Given the description of an element on the screen output the (x, y) to click on. 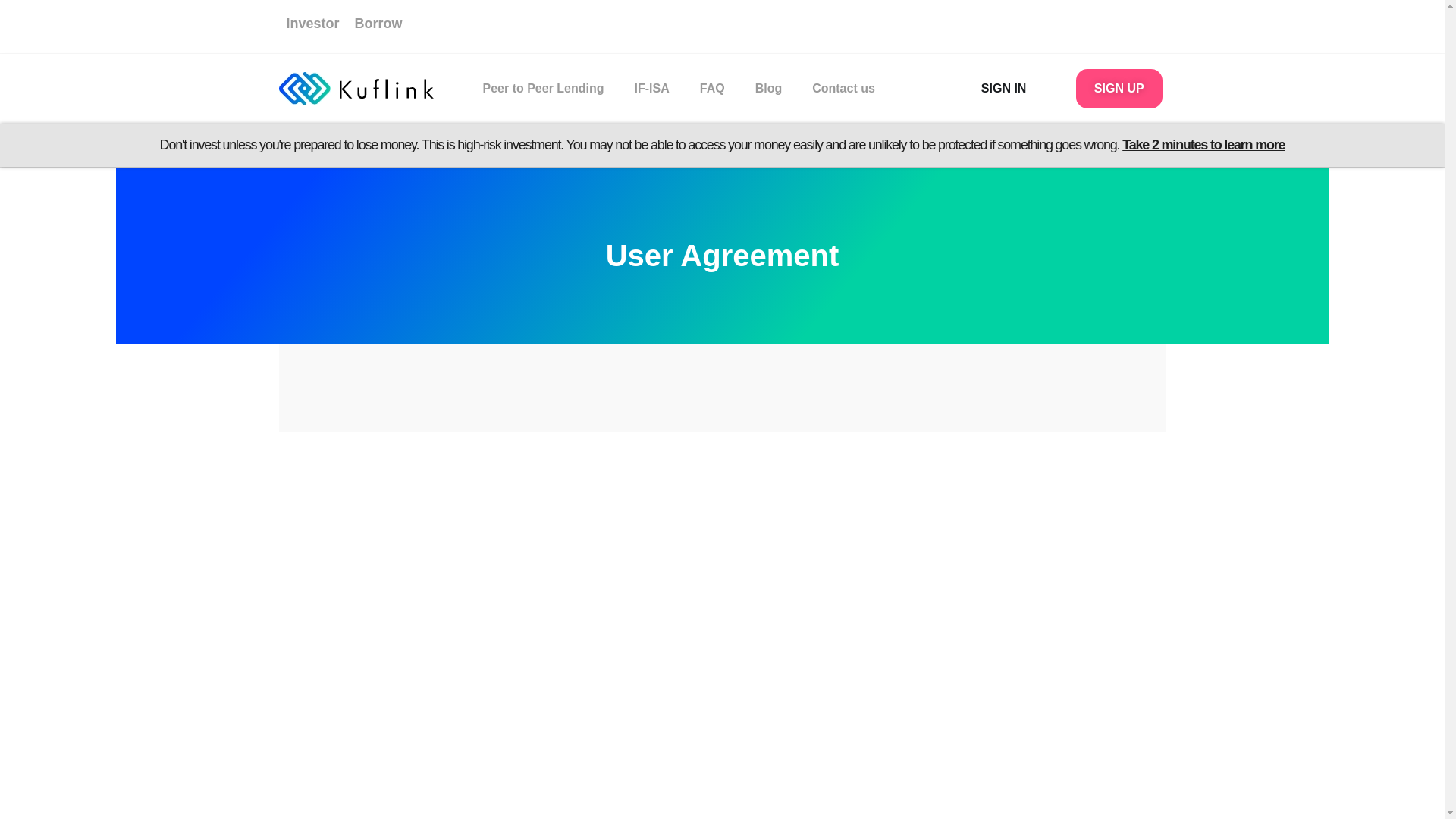
IF-ISA (652, 88)
Peer to Peer Lending (542, 88)
Take 2 minutes to learn more (1203, 144)
SIGN IN (1003, 88)
Borrow (379, 23)
FAQ (711, 88)
Blog (768, 88)
Kuflink logo (356, 88)
Investor (312, 23)
SIGN UP (1118, 88)
Contact us (842, 88)
